Given the description of an element on the screen output the (x, y) to click on. 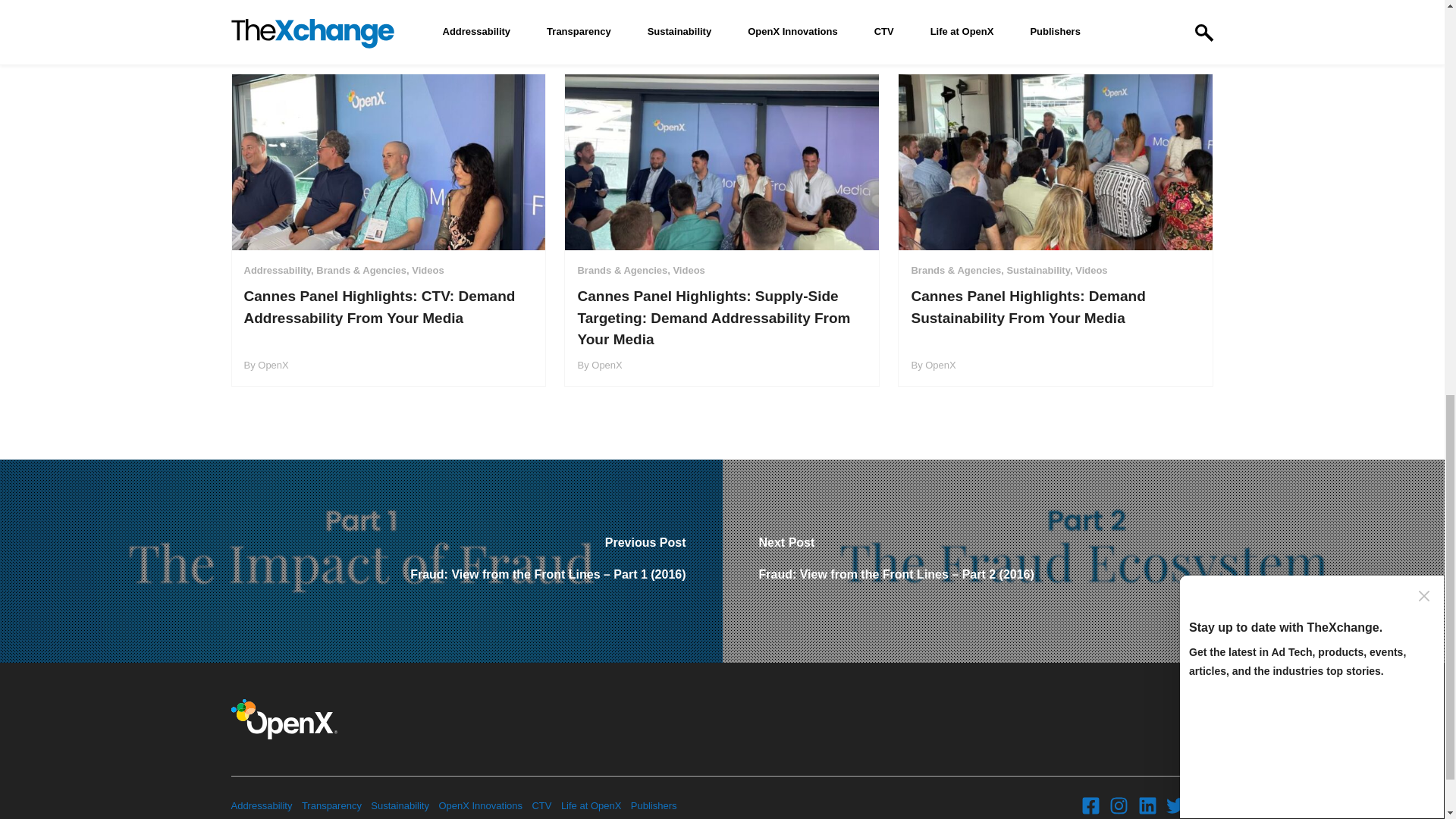
OpenX Innovations (480, 805)
Publishers (653, 805)
Life at OpenX (590, 805)
Transparency (331, 805)
Sustainability (400, 805)
CTV (541, 805)
Addressability (261, 805)
